Given the description of an element on the screen output the (x, y) to click on. 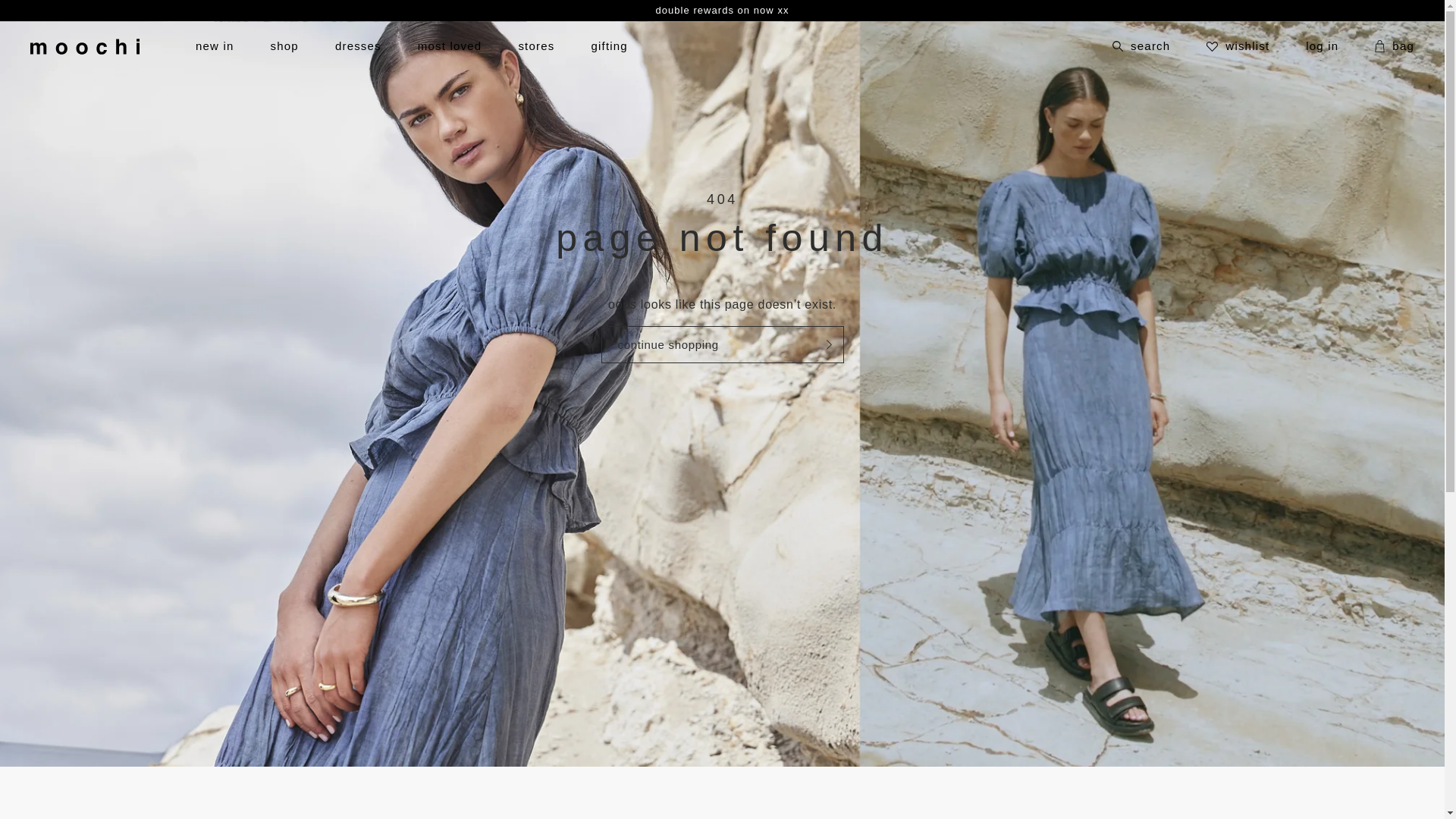
stores Element type: text (535, 46)
bag Element type: text (1400, 46)
m o o c h i Element type: text (88, 46)
log in Element type: text (1321, 46)
gifting Element type: text (608, 46)
search Element type: text (1141, 46)
continue shopping Element type: text (721, 344)
shop Element type: text (284, 46)
most loved Element type: text (449, 46)
double rewards on now xx Element type: text (722, 10)
wishlist Element type: text (1237, 46)
dresses Element type: text (357, 46)
new in Element type: text (214, 46)
